Given the description of an element on the screen output the (x, y) to click on. 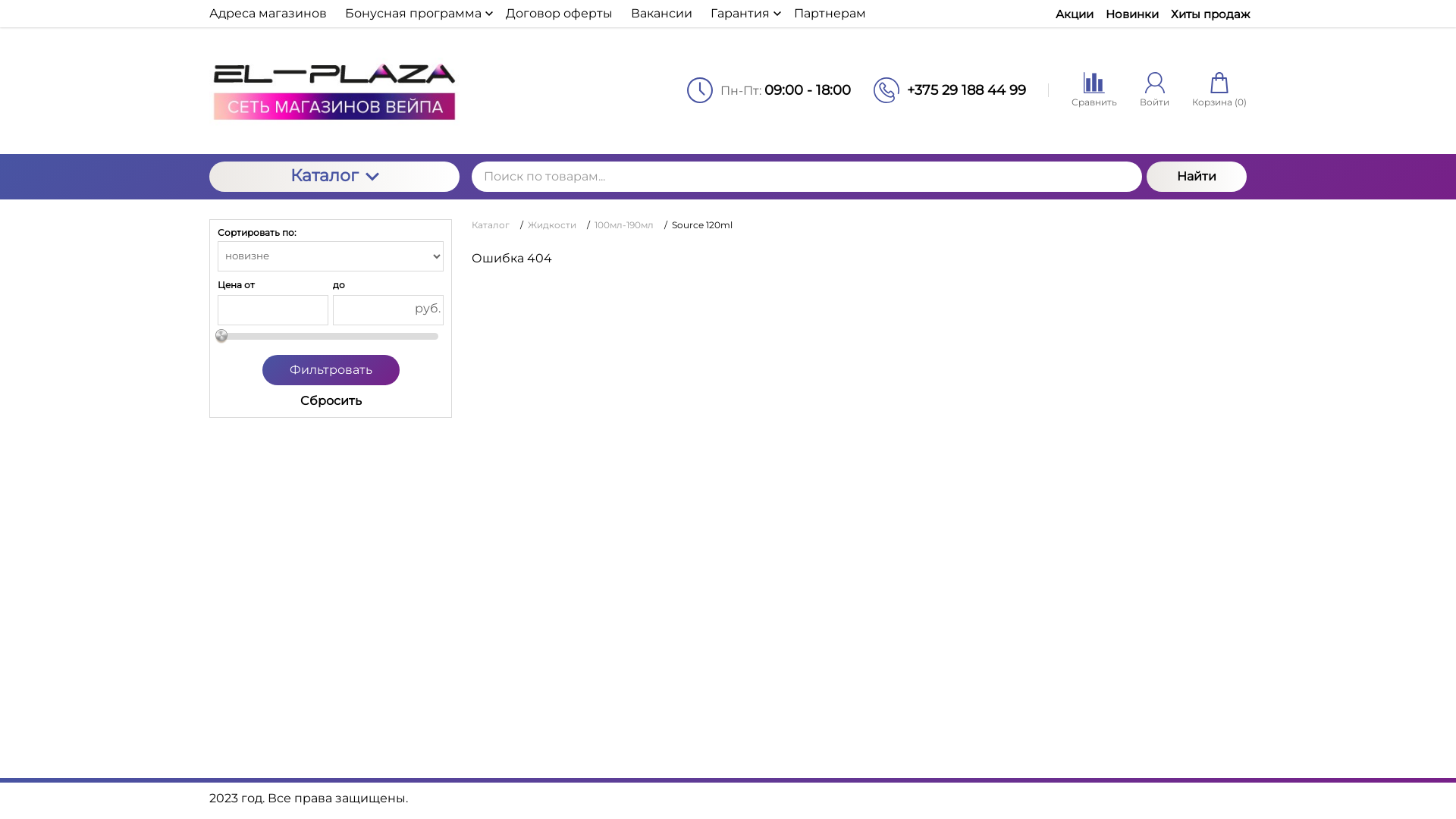
+375 29 188 44 99 Element type: text (966, 89)
el-plaza Element type: hover (334, 90)
